Given the description of an element on the screen output the (x, y) to click on. 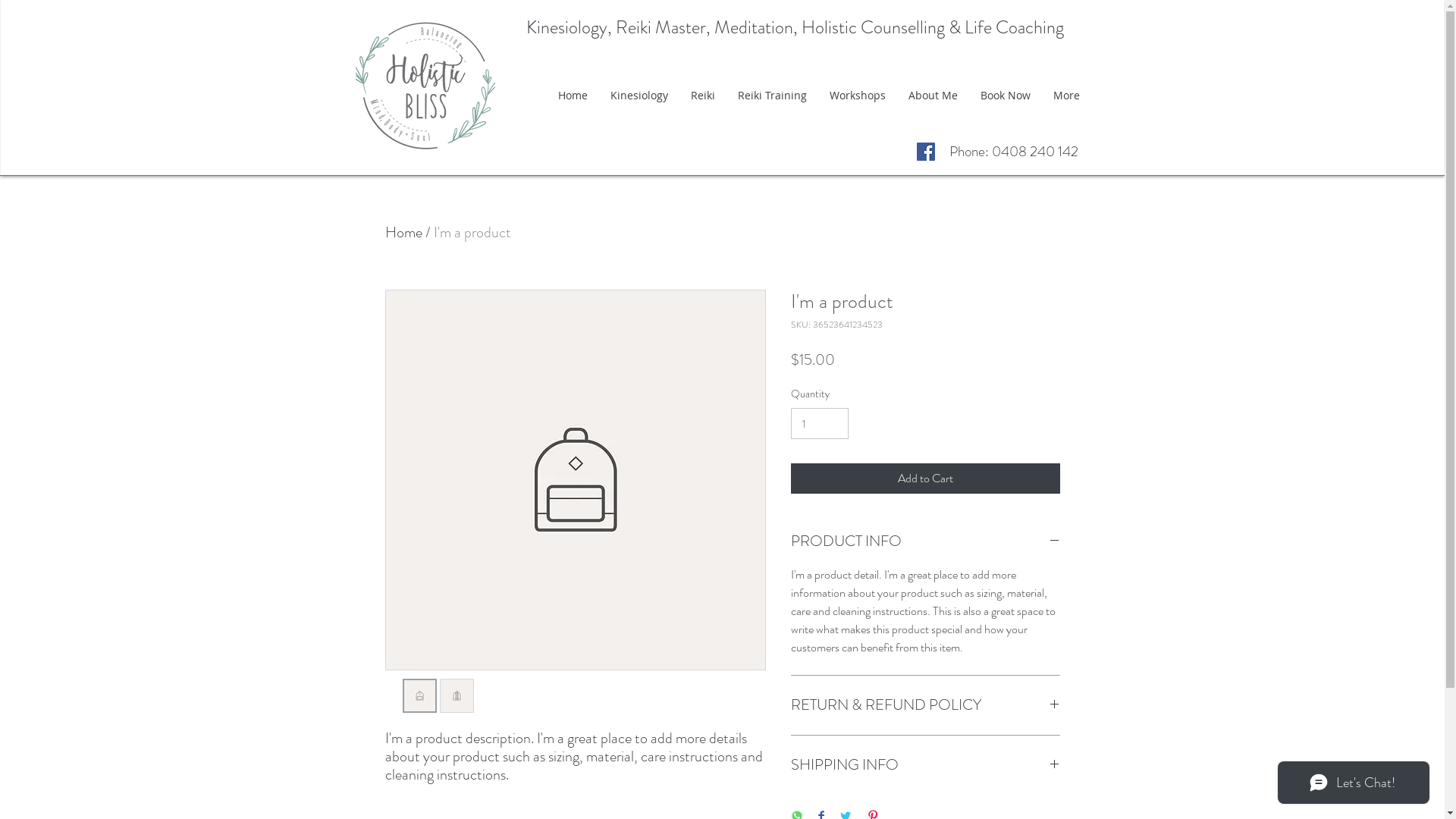
PRODUCT INFO Element type: text (924, 541)
SHIPPING INFO Element type: text (924, 764)
Kinesiology Element type: text (639, 95)
Home Element type: text (572, 95)
Book Now Element type: text (1005, 95)
I'm a product Element type: text (472, 232)
Home Element type: text (403, 232)
Reiki Training Element type: text (772, 95)
Workshops Element type: text (856, 95)
Add to Cart Element type: text (924, 478)
About Me Element type: text (932, 95)
Reiki Element type: text (702, 95)
RETURN & REFUND POLICY Element type: text (924, 704)
